Given the description of an element on the screen output the (x, y) to click on. 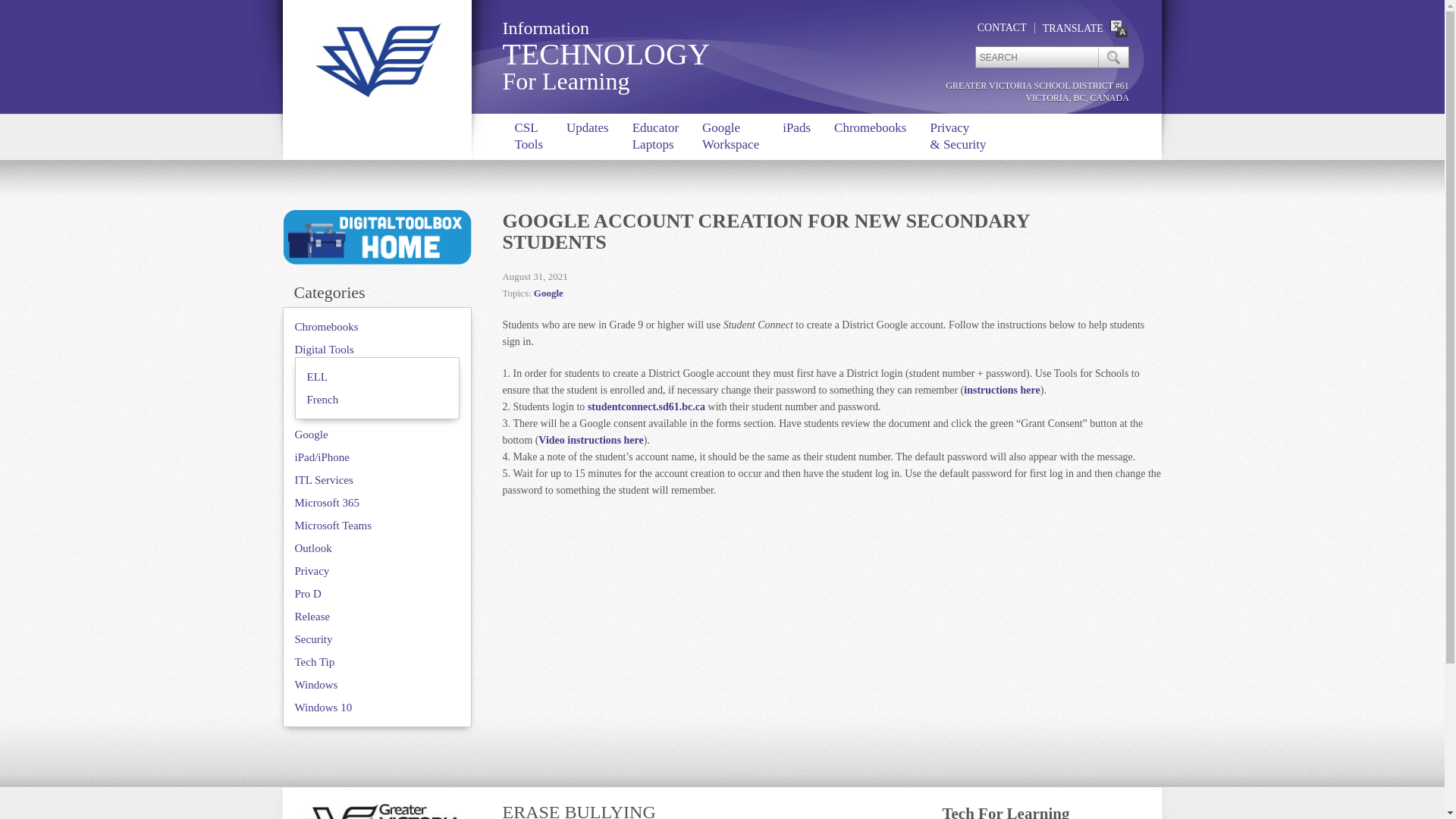
Updates (655, 136)
CONTACT (587, 136)
